Given the description of an element on the screen output the (x, y) to click on. 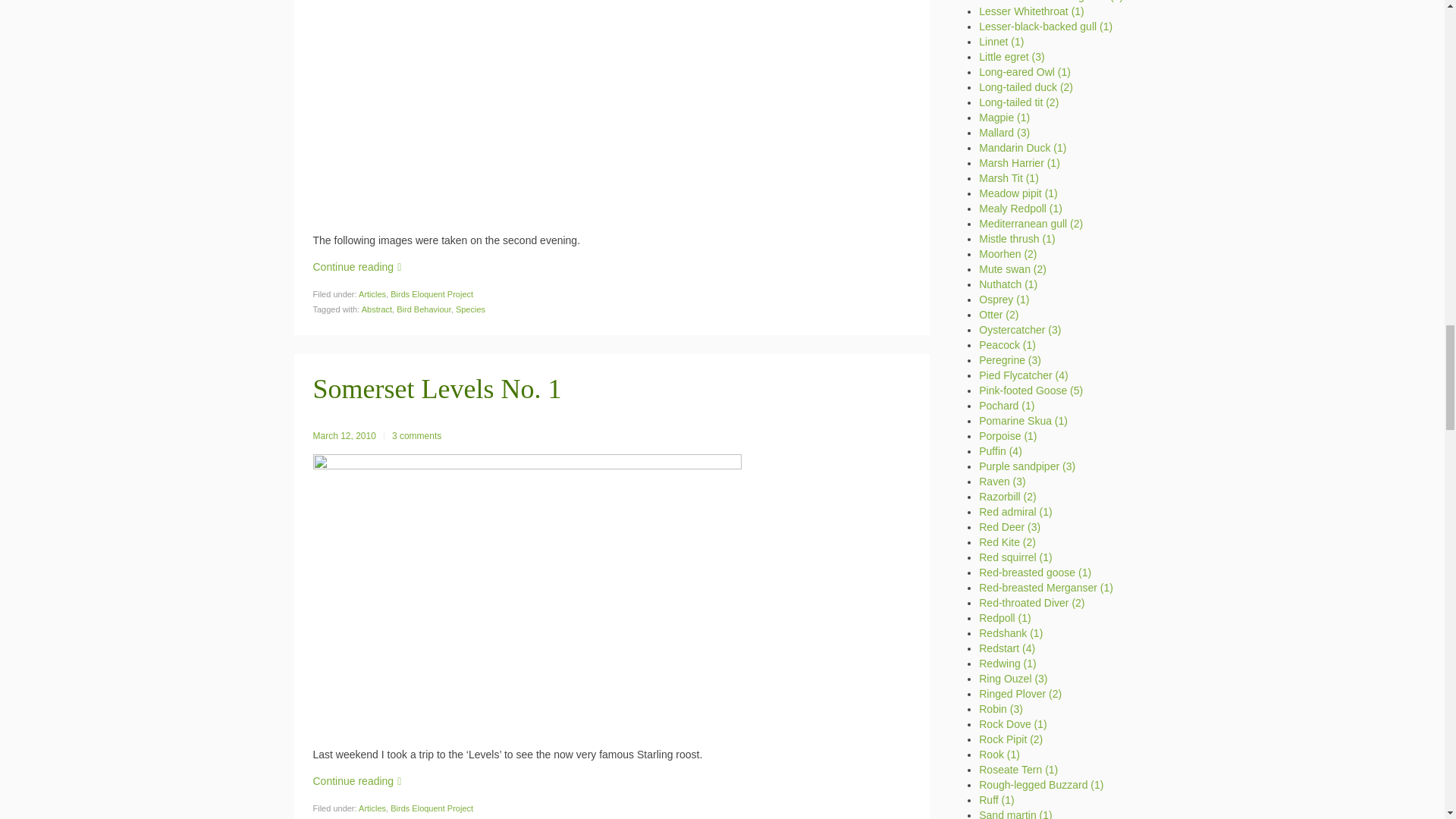
Starling2 (527, 110)
Somerset Levels No. 1 (436, 388)
star1 (527, 594)
